Given the description of an element on the screen output the (x, y) to click on. 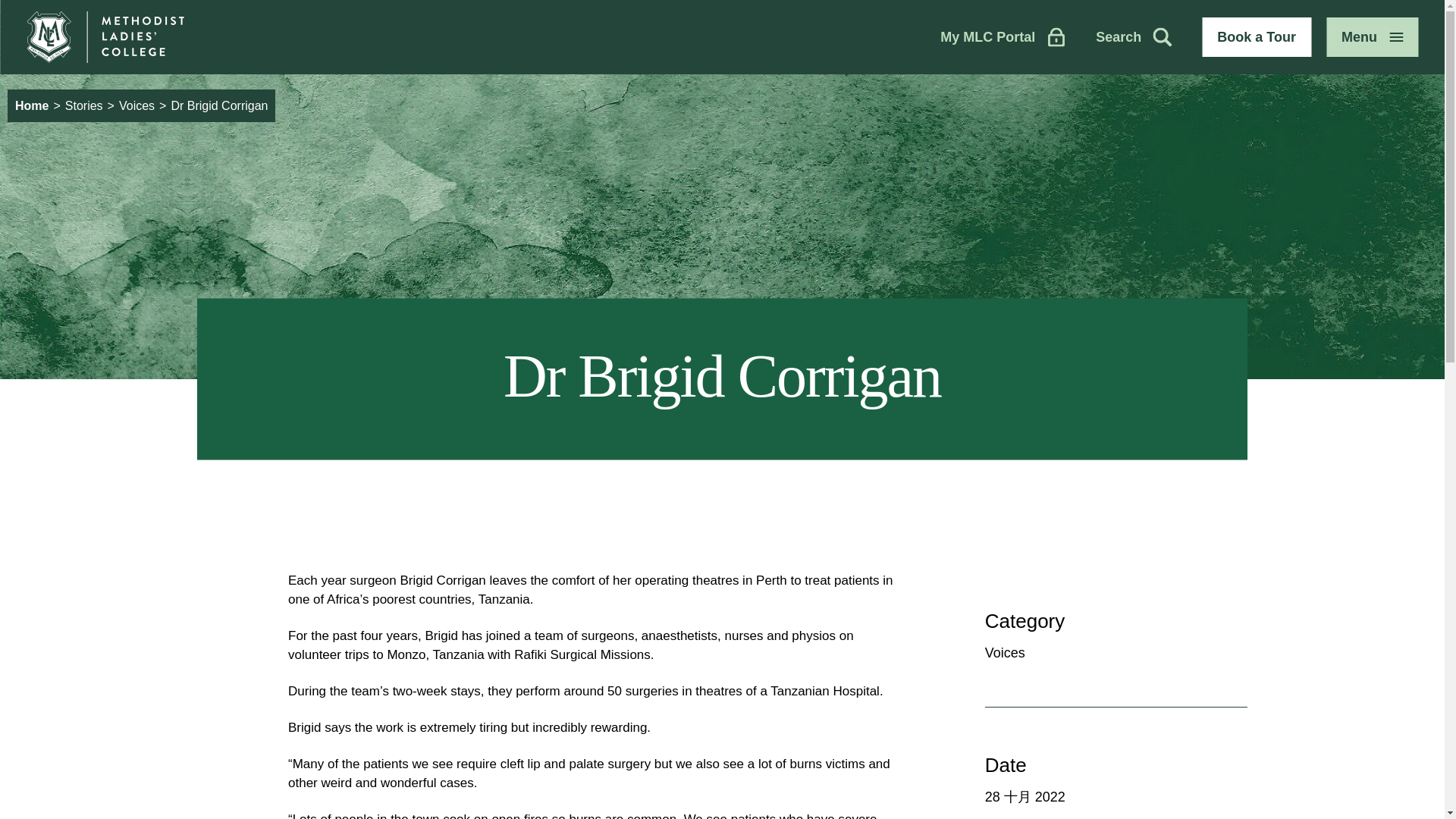
Book a Tour (1256, 36)
My MLC Portal (994, 36)
Search (1126, 36)
Menu (1372, 36)
